Given the description of an element on the screen output the (x, y) to click on. 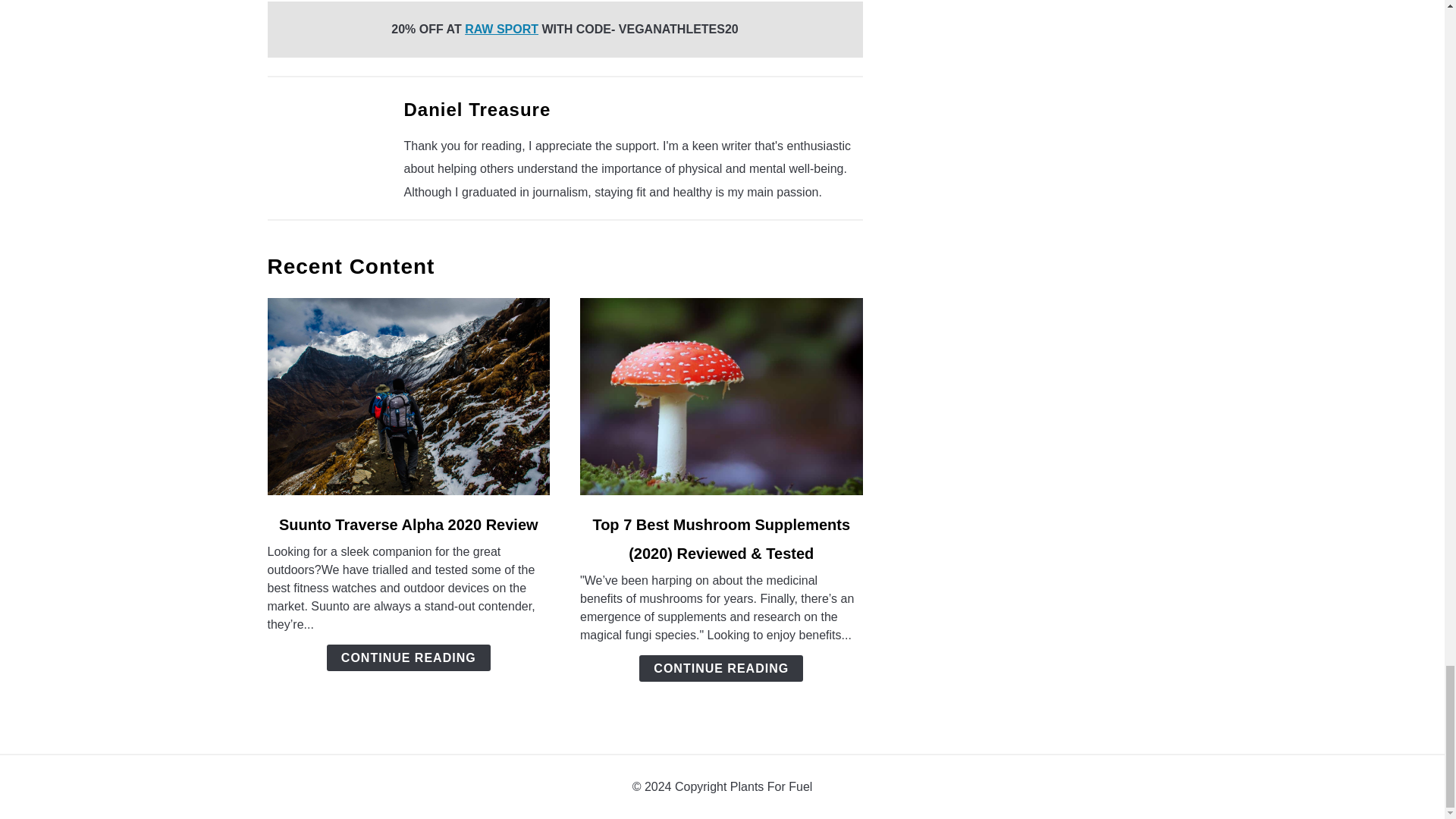
link to Suunto Traverse Alpha 2020 Review (408, 396)
Suunto Traverse Alpha 2020 Review (408, 524)
Daniel Treasure (476, 109)
CONTINUE READING (408, 657)
CONTINUE READING (721, 668)
RAW SPORT (501, 29)
